Given the description of an element on the screen output the (x, y) to click on. 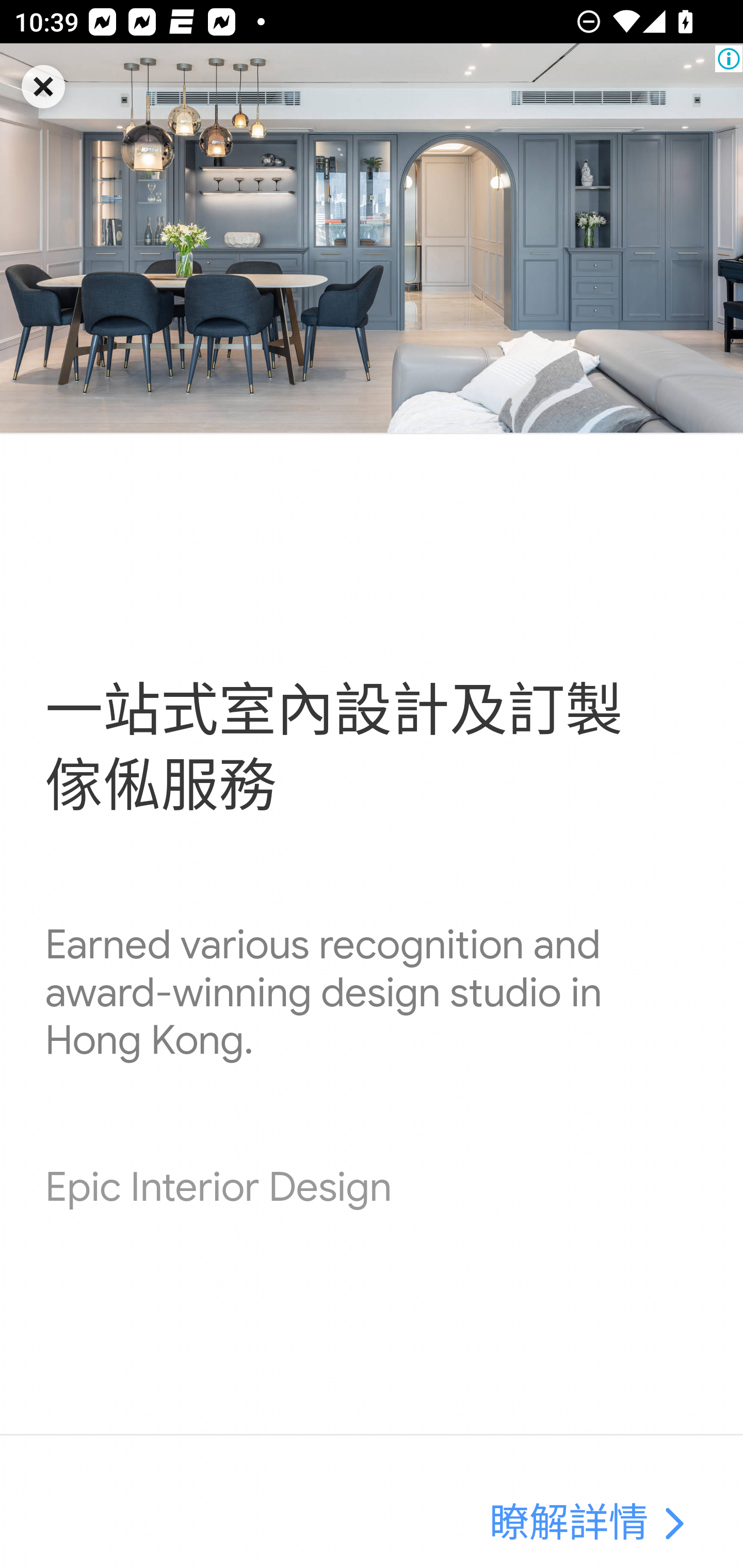
www.epicinterior (371, 237)
一站式室內設計及訂製 傢俬服務 一站式室內設計及訂製 傢俬服務 (333, 749)
Epic Interior Design (218, 1187)
瞭解詳情 (568, 1524)
www.epicinterior (673, 1524)
